Given the description of an element on the screen output the (x, y) to click on. 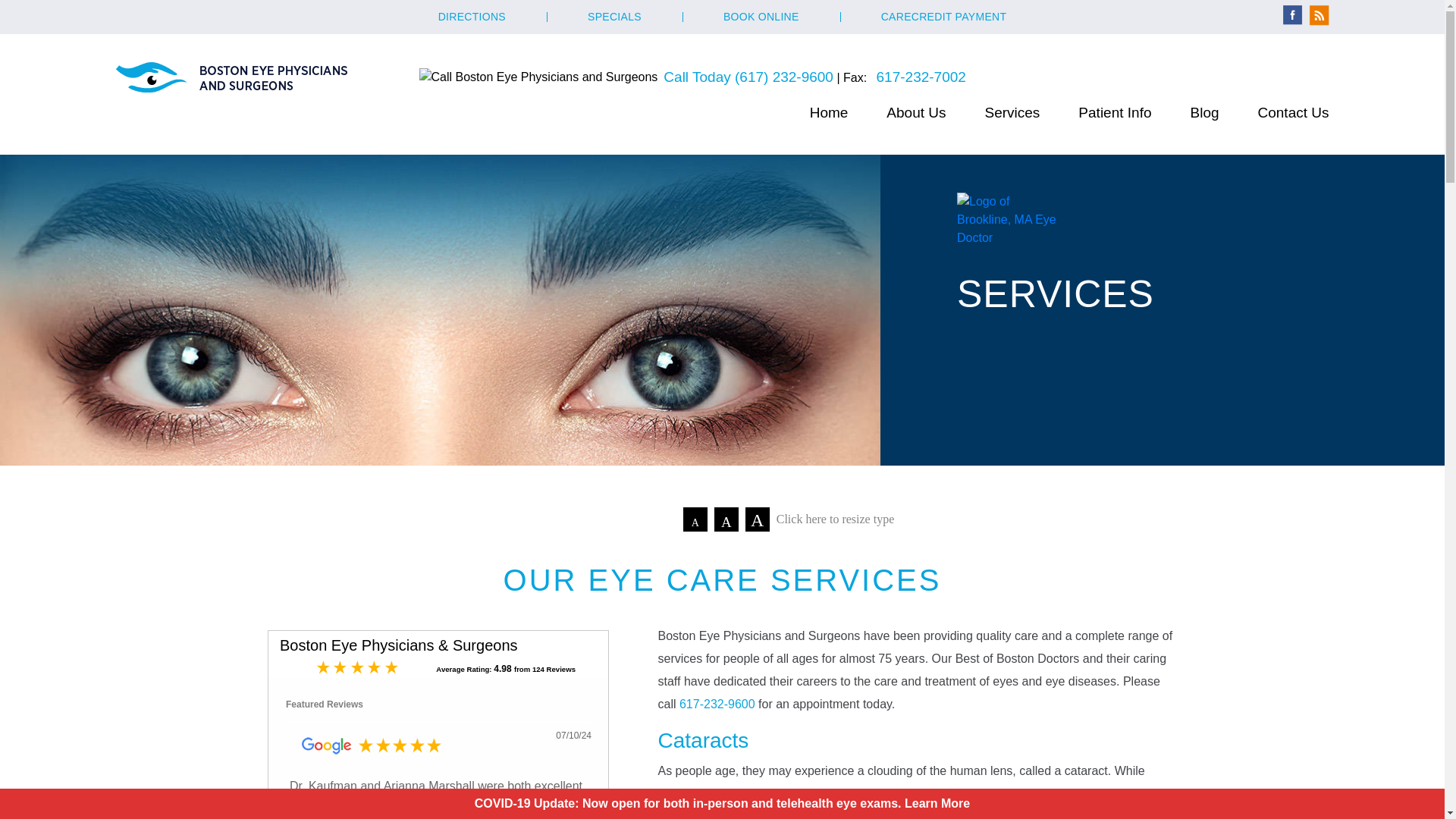
CARECREDIT PAYMENT (943, 17)
BOOK ONLINE (761, 17)
Learn More (936, 802)
Services (1011, 112)
Home (828, 112)
617-232-7002 (921, 76)
DIRECTIONS (471, 17)
SPECIALS (615, 17)
About Us (915, 112)
About Us (915, 112)
Services (1011, 112)
Home (828, 112)
